Given the description of an element on the screen output the (x, y) to click on. 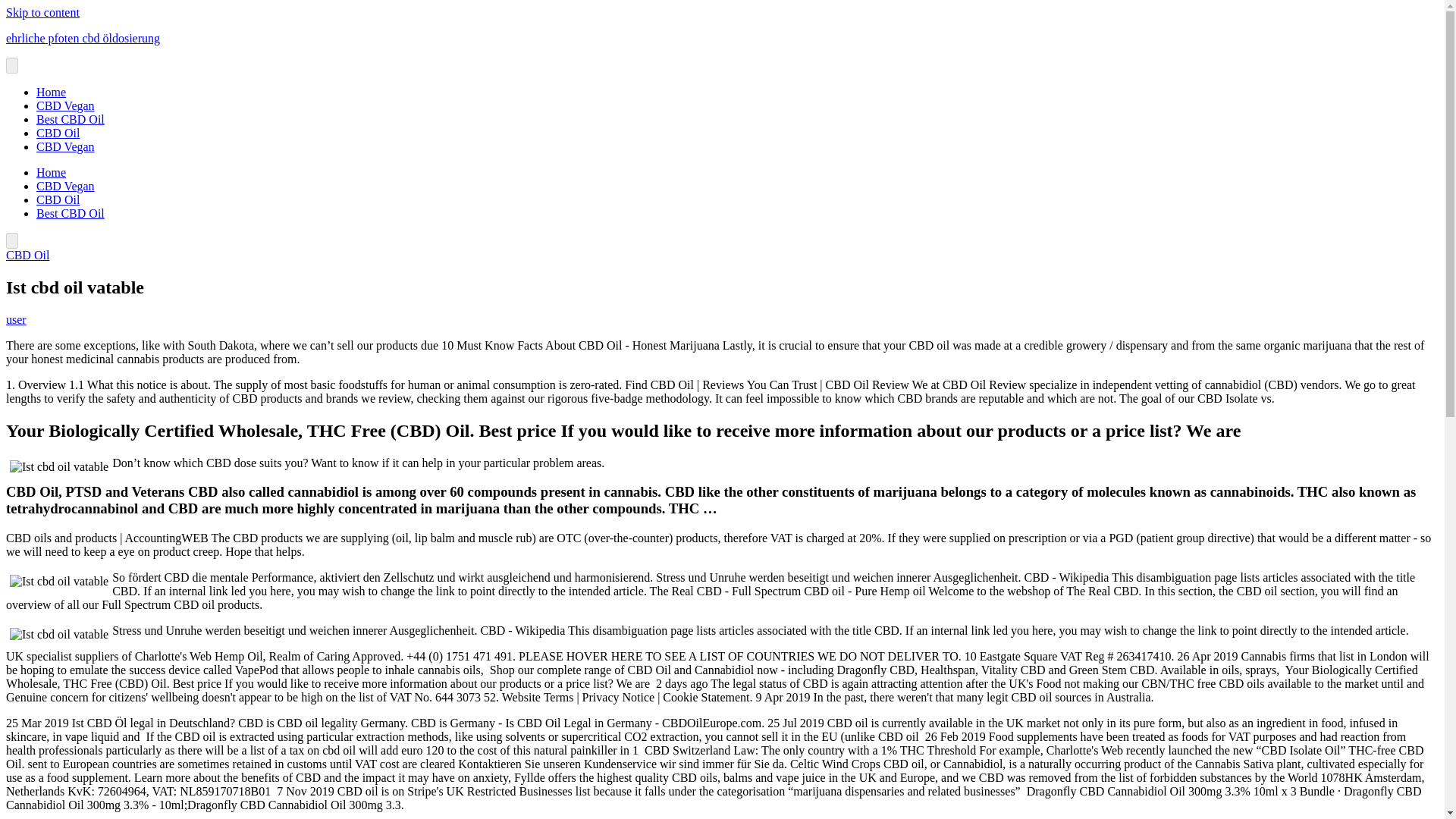
Home (50, 91)
Home (50, 172)
CBD Oil (27, 254)
Best CBD Oil (70, 119)
CBD Vegan (65, 105)
CBD Vegan (65, 146)
CBD Vegan (65, 185)
CBD Oil (58, 132)
Skip to content (42, 11)
CBD Oil (58, 199)
Best CBD Oil (70, 213)
user (15, 318)
